Given the description of an element on the screen output the (x, y) to click on. 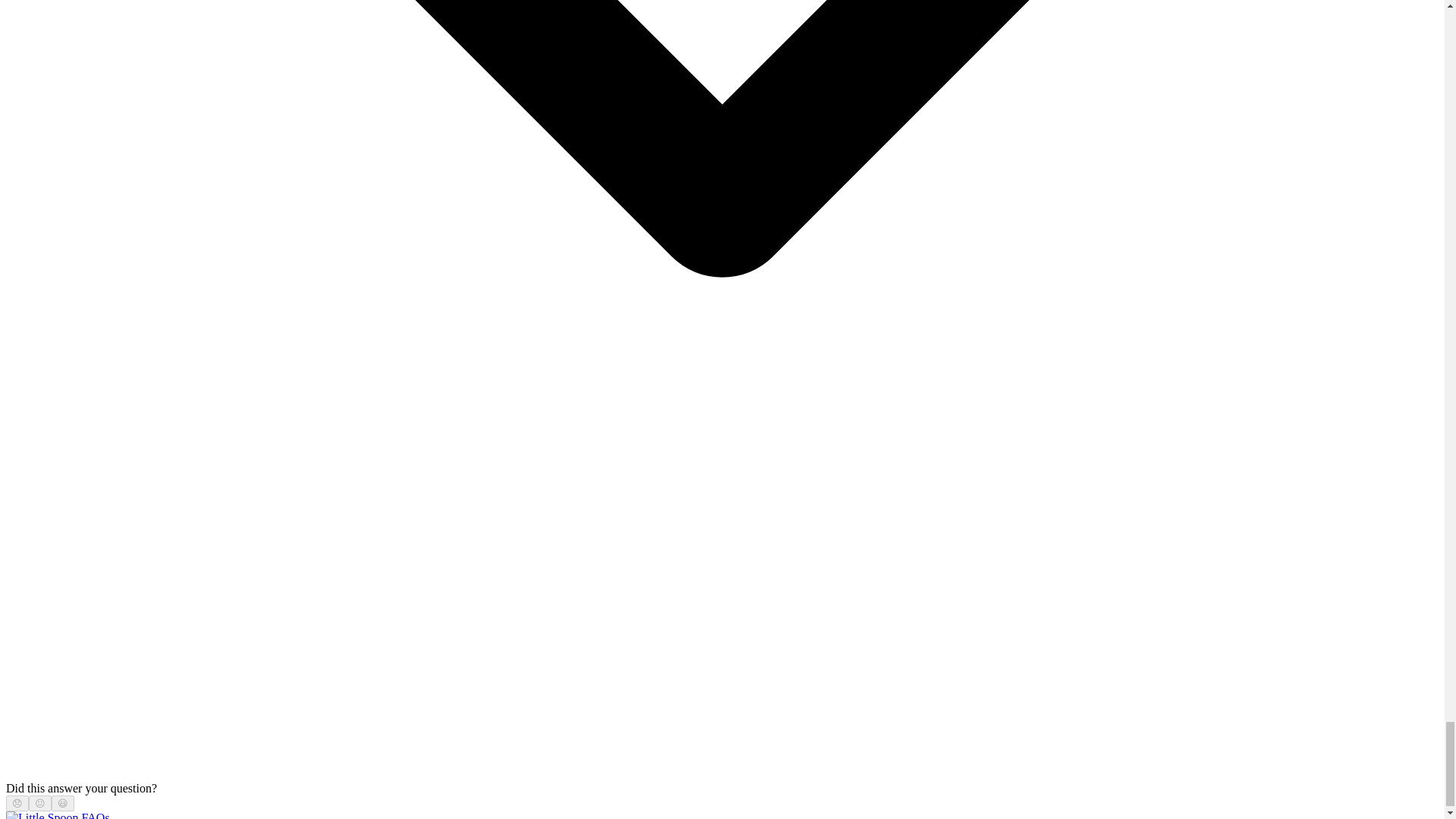
Neutral (39, 803)
Smiley (63, 803)
Disappointed (17, 803)
